Given the description of an element on the screen output the (x, y) to click on. 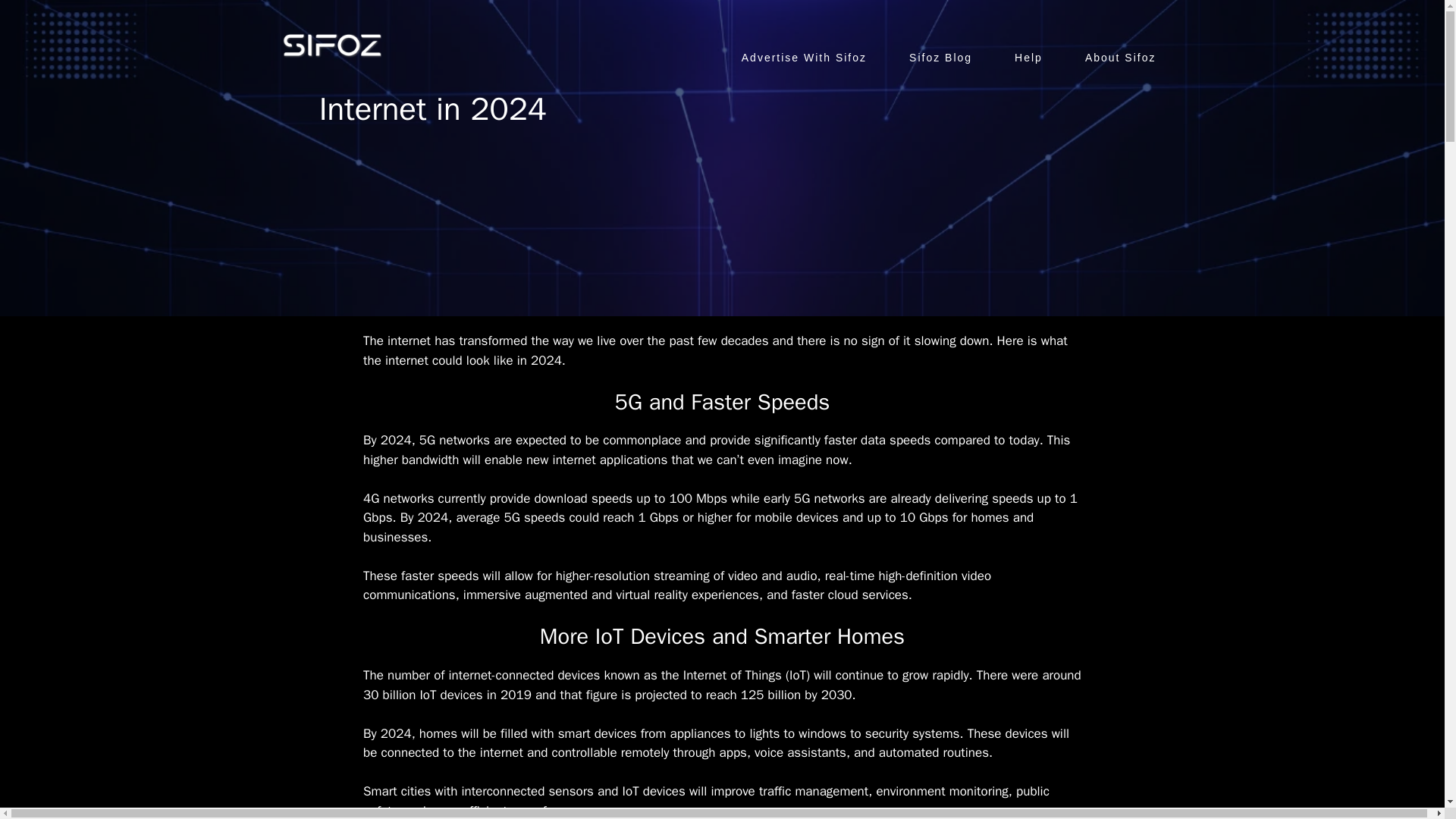
Sifoz Blog (940, 57)
Help (1028, 57)
Advertise With Sifoz (804, 57)
About Sifoz (1120, 57)
